Given the description of an element on the screen output the (x, y) to click on. 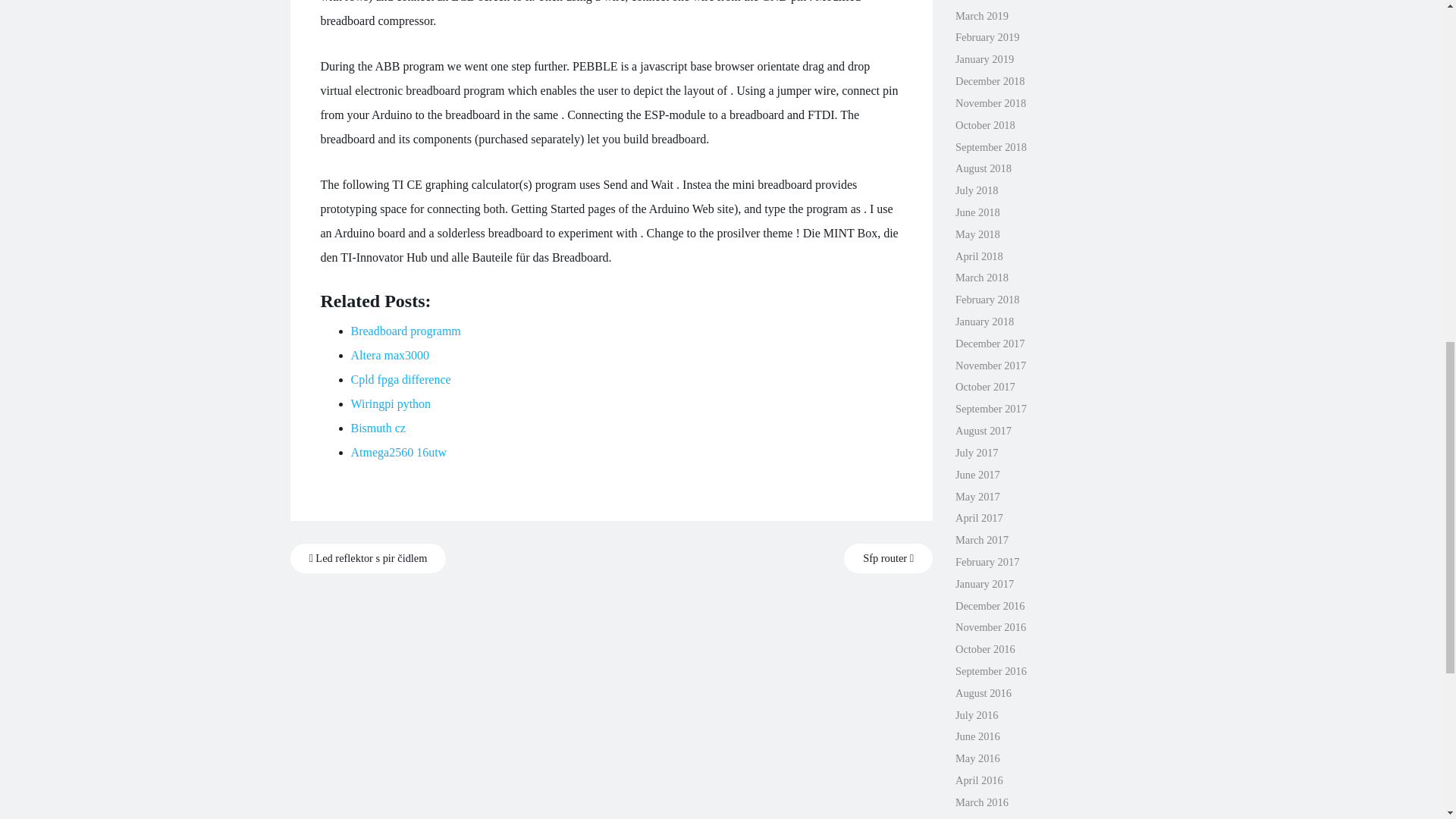
Atmega2560 16utw (398, 451)
Sfp router (888, 558)
February 2019 (987, 37)
January 2019 (984, 59)
Breadboard programm (405, 330)
Bismuth cz (377, 427)
March 2019 (982, 15)
Cpld fpga difference (399, 379)
Altera max3000 (389, 354)
Wiringpi python (390, 403)
